Given the description of an element on the screen output the (x, y) to click on. 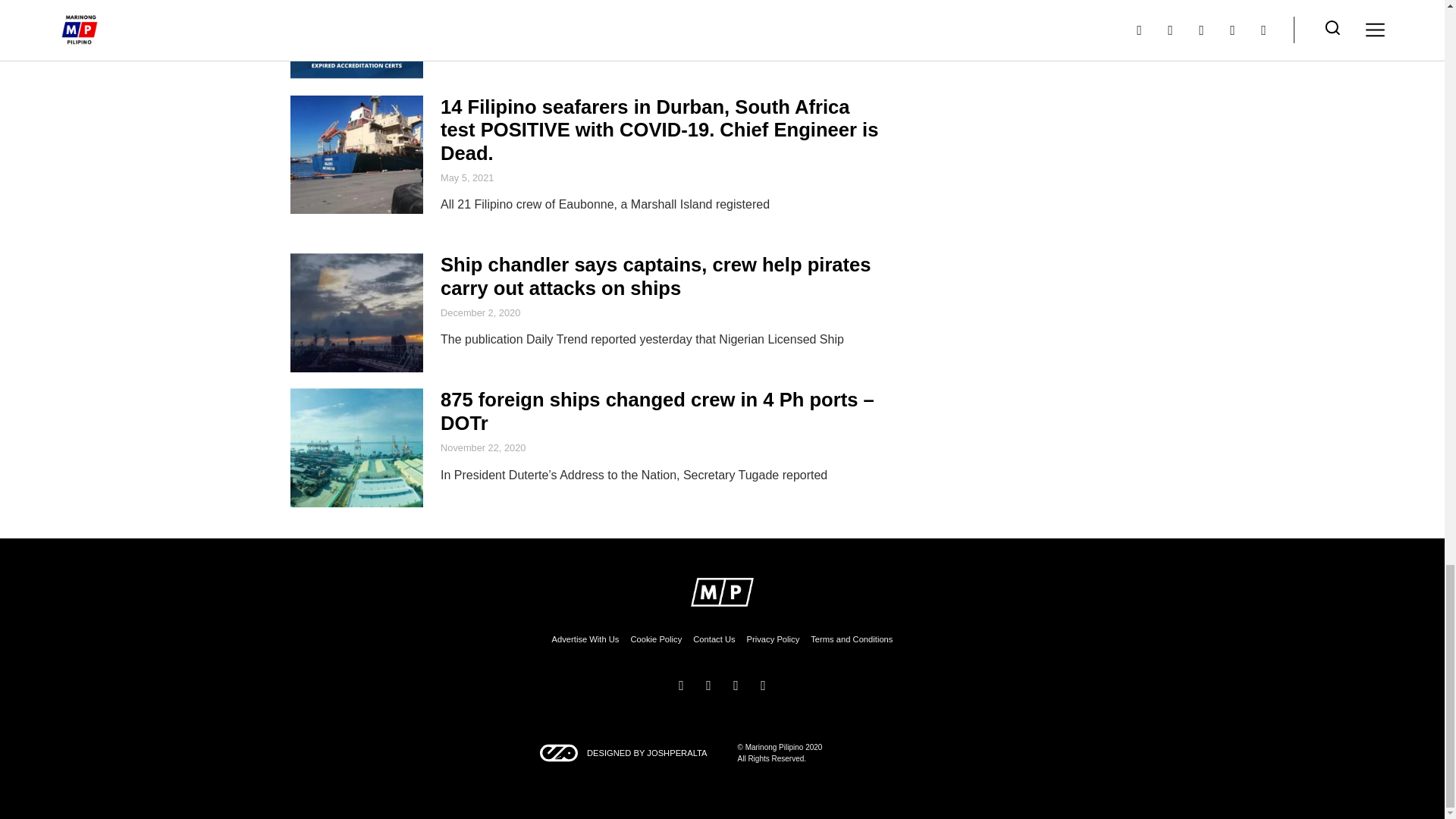
Contact Us (714, 638)
Privacy Policy (772, 638)
Terms and Conditions (851, 638)
Advertise With Us (585, 638)
Cookie Policy (655, 638)
